Given the description of an element on the screen output the (x, y) to click on. 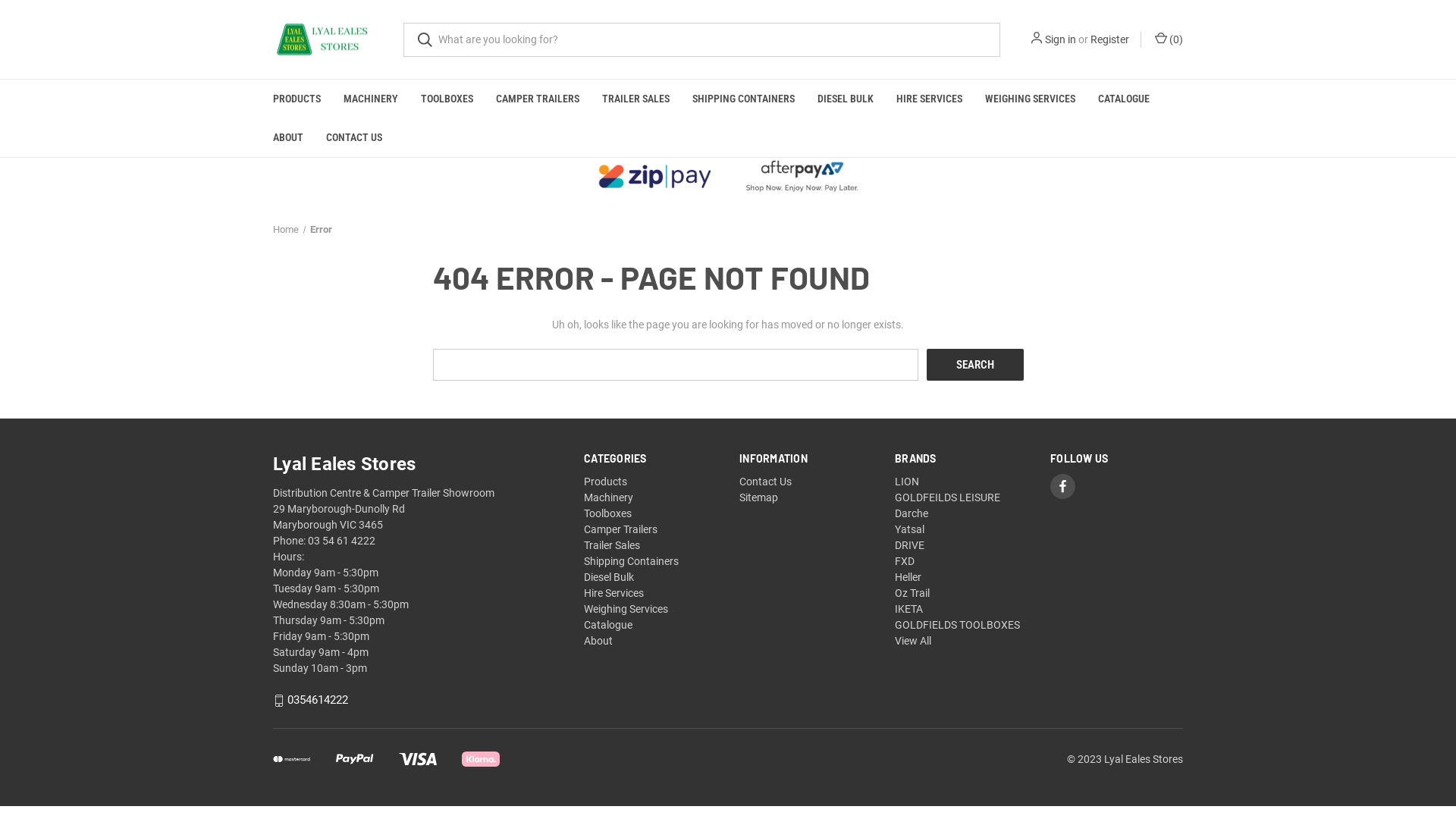
Sitemap Element type: text (758, 497)
DIESEL BULK Element type: text (845, 98)
Lyal Eales Stores Element type: hover (326, 39)
Heller Element type: text (907, 577)
Machinery Element type: text (608, 497)
CAMPER TRAILERS Element type: text (537, 98)
Products Element type: text (605, 481)
About Element type: text (597, 640)
Error Element type: text (320, 229)
Catalogue Element type: text (607, 624)
HIRE SERVICES Element type: text (928, 98)
Toolboxes Element type: text (607, 513)
Trailer Sales Element type: text (611, 545)
Diesel Bulk Element type: text (608, 577)
SHIPPING CONTAINERS Element type: text (743, 98)
CATALOGUE Element type: text (1123, 98)
Weighing Services Element type: text (625, 608)
Contact Us Element type: text (765, 481)
IKETA Element type: text (908, 608)
(0) Element type: text (1167, 39)
FXD Element type: text (904, 561)
TOOLBOXES Element type: text (446, 98)
WEIGHING SERVICES Element type: text (1029, 98)
MACHINERY Element type: text (370, 98)
Darche Element type: text (911, 513)
TRAILER SALES Element type: text (635, 98)
GOLDFEILDS LEISURE Element type: text (947, 497)
DRIVE Element type: text (909, 545)
Register Element type: text (1109, 39)
CONTACT US Element type: text (353, 137)
Sign in Element type: text (1060, 39)
Shipping Containers Element type: text (630, 561)
View All Element type: text (912, 640)
PRODUCTS Element type: text (296, 98)
Hire Services Element type: text (613, 592)
LION Element type: text (906, 481)
ABOUT Element type: text (287, 137)
Yatsal Element type: text (909, 529)
GOLDFIELDS TOOLBOXES Element type: text (956, 624)
Search Element type: text (974, 364)
Camper Trailers Element type: text (620, 529)
Oz Trail Element type: text (911, 592)
Home Element type: text (285, 229)
0354614222 Element type: text (317, 700)
